Given the description of an element on the screen output the (x, y) to click on. 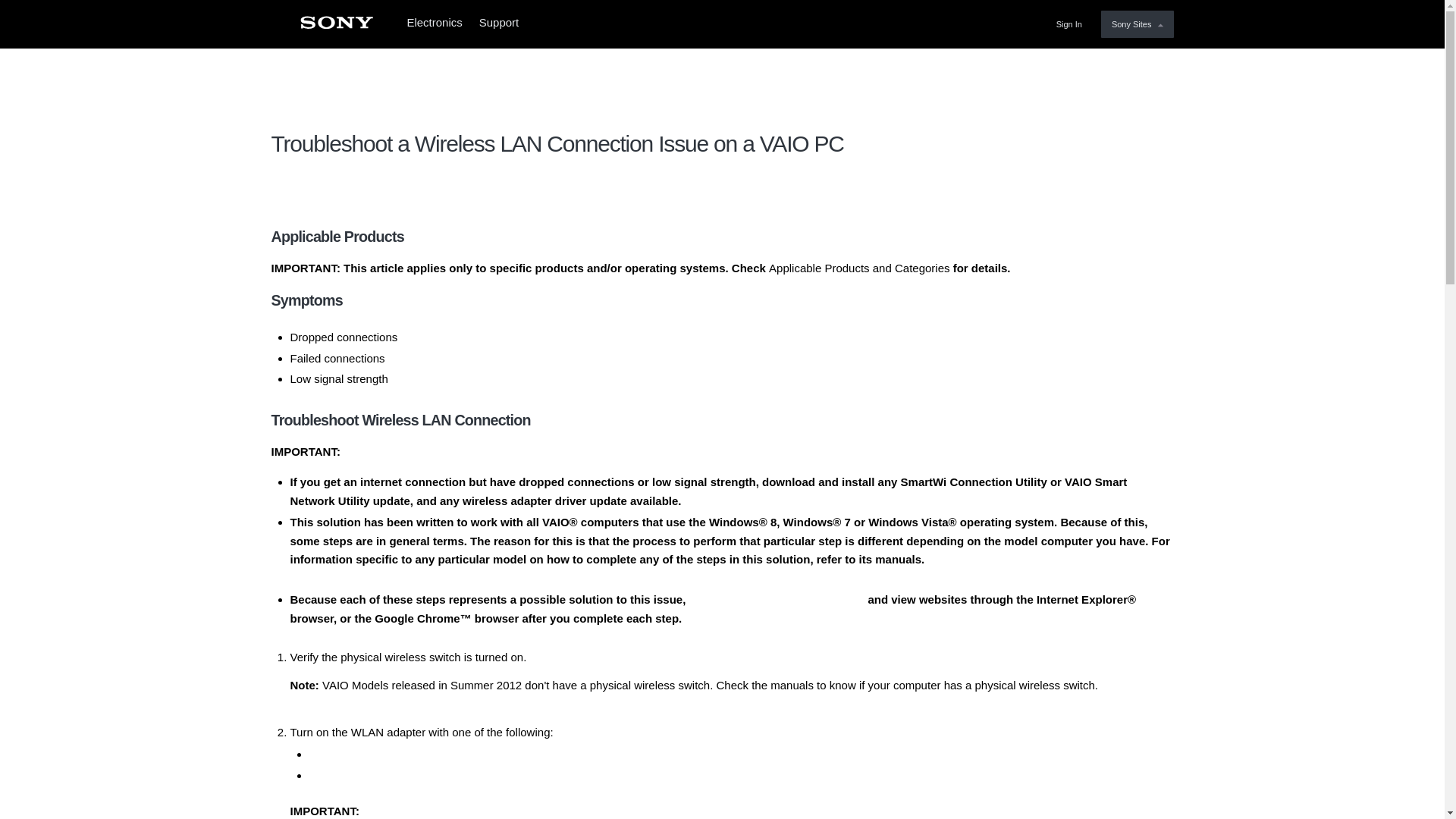
Sony Sites (1136, 23)
SONY (336, 26)
Sign In (1072, 23)
SONY (336, 26)
Electronics (434, 24)
Support (504, 24)
